Given the description of an element on the screen output the (x, y) to click on. 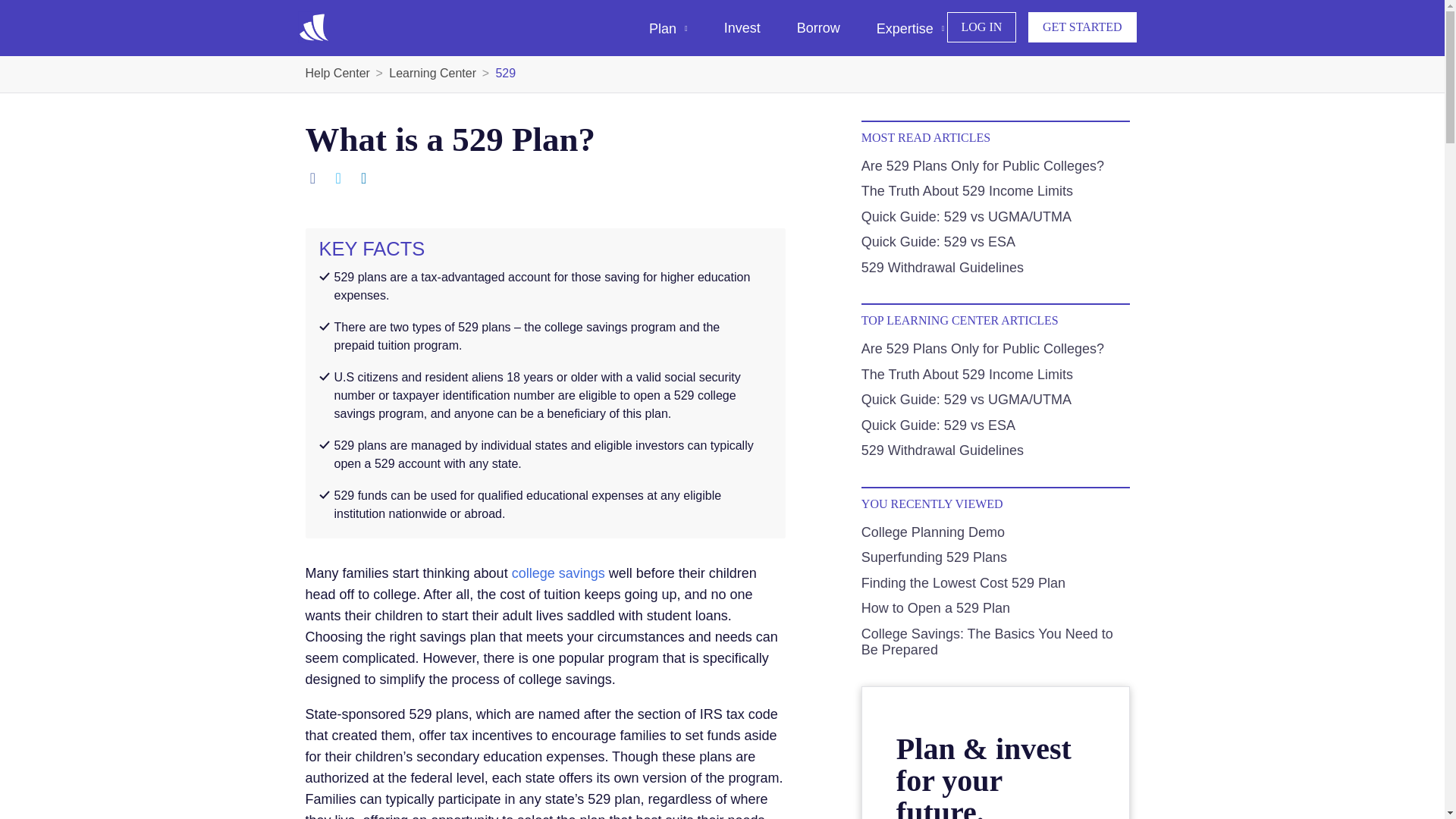
College Savings: The Basics You Need to Be Prepared (987, 642)
Quick Guide: 529 vs ESA (937, 241)
college savings (558, 572)
Borrow (818, 28)
The Truth About 529 Income Limits (967, 191)
GET STARTED (1082, 27)
Are 529 Plans Only for Public Colleges? (982, 165)
The Truth About 529 Income Limits (967, 191)
529 (497, 73)
LOG IN (981, 27)
Expertise (910, 28)
Help Center (336, 73)
Learning Center (432, 72)
Superfunding 529 Plans (934, 557)
How to Open a 529 Plan (935, 607)
